Given the description of an element on the screen output the (x, y) to click on. 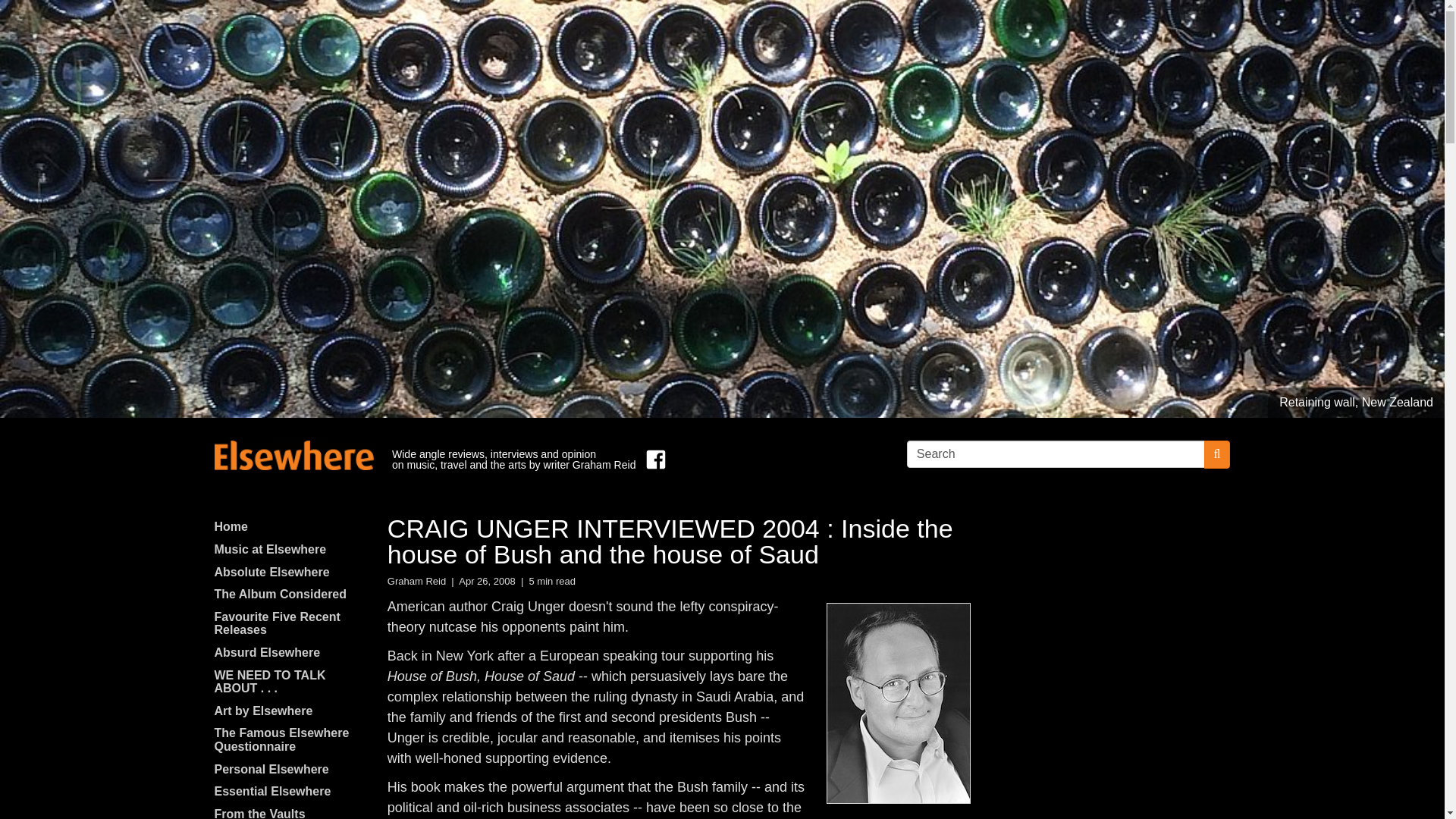
Search (1056, 453)
Elsewhere by Graham Reid (293, 455)
Search (1056, 453)
Find us on Facebook (652, 459)
